Given the description of an element on the screen output the (x, y) to click on. 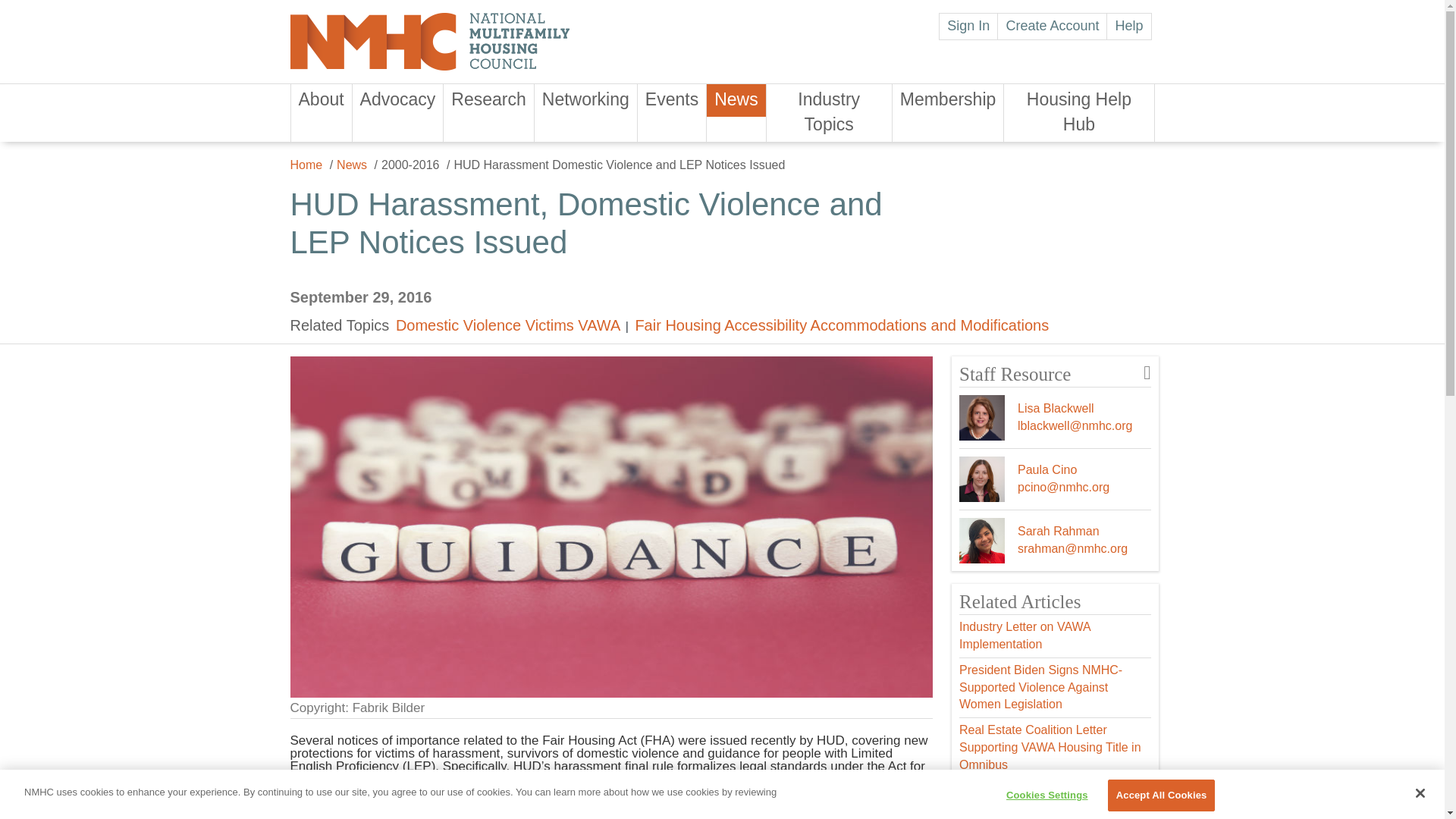
About (321, 100)
Advocacy (398, 100)
Help (1128, 26)
Sign In (968, 26)
Research (488, 100)
Networking (585, 100)
Create Account (1051, 26)
